Given the description of an element on the screen output the (x, y) to click on. 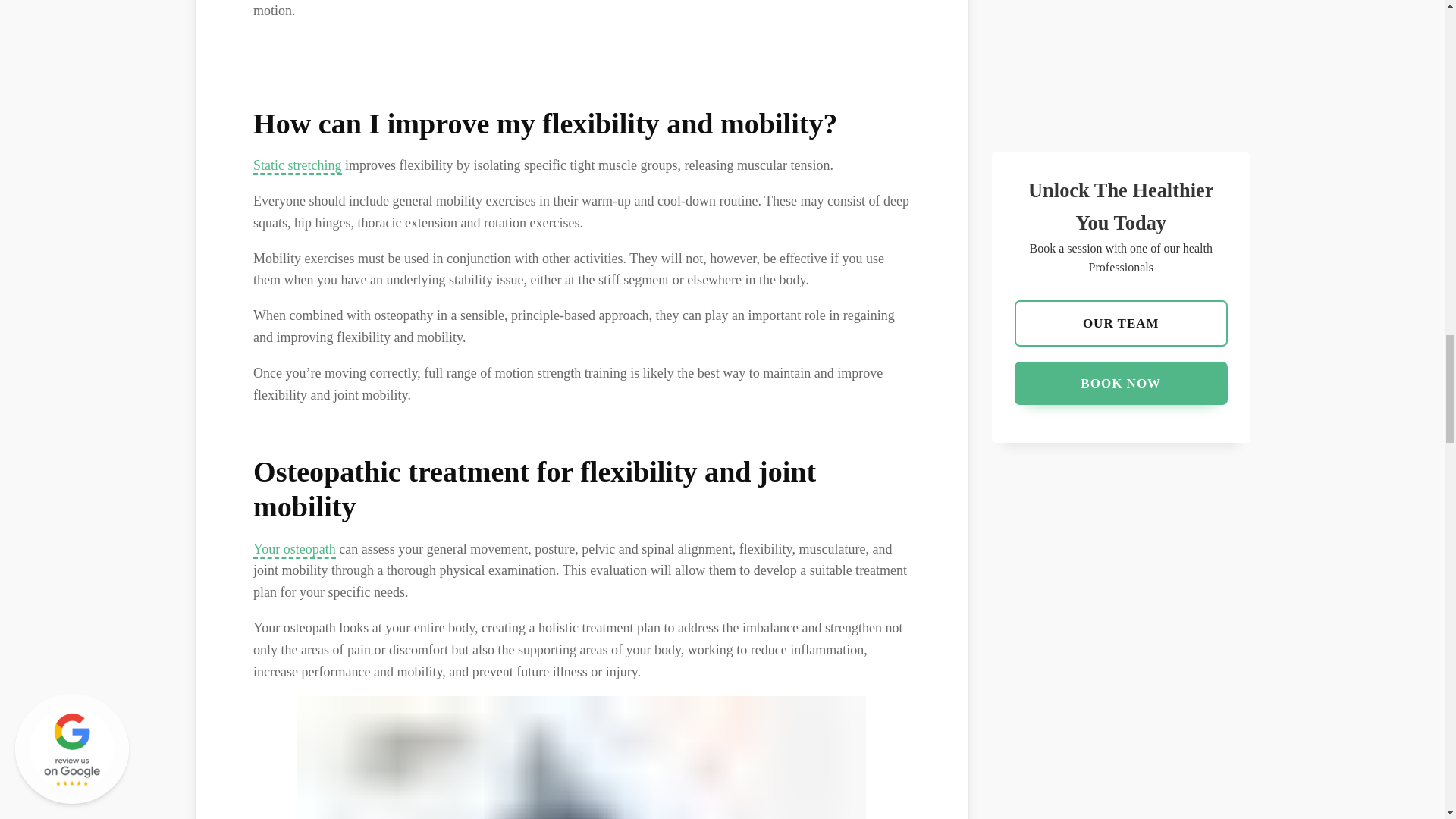
Static stretching (296, 166)
Your osteopath (294, 549)
